Given the description of an element on the screen output the (x, y) to click on. 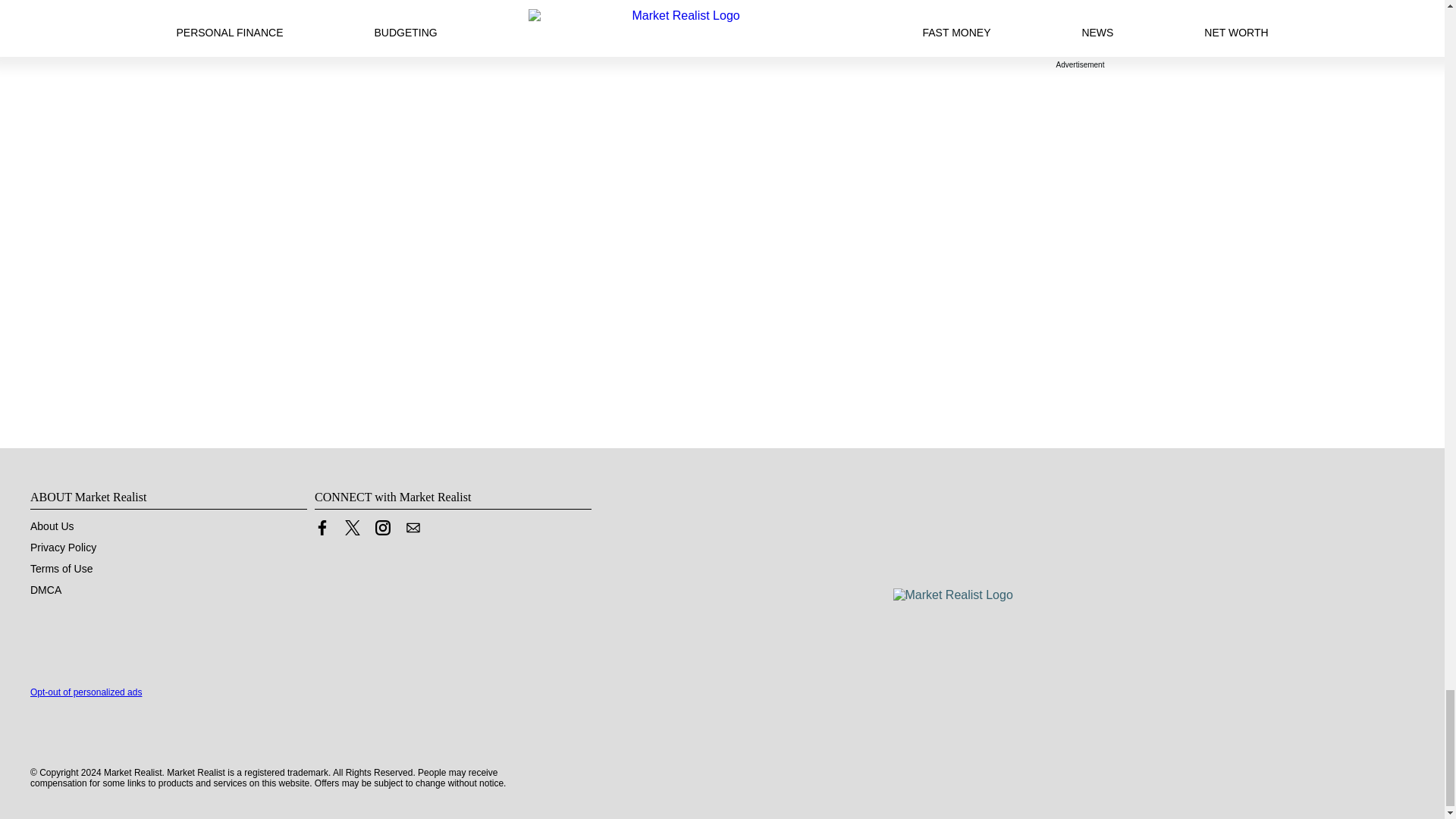
Link to Instagram (382, 531)
Terms of Use (61, 568)
Link to Instagram (382, 527)
Terms of Use (61, 568)
Link to Facebook (322, 531)
Opt-out of personalized ads (85, 692)
DMCA (45, 589)
About Us (52, 526)
Link to Facebook (322, 527)
Contact us by Email (413, 531)
